Given the description of an element on the screen output the (x, y) to click on. 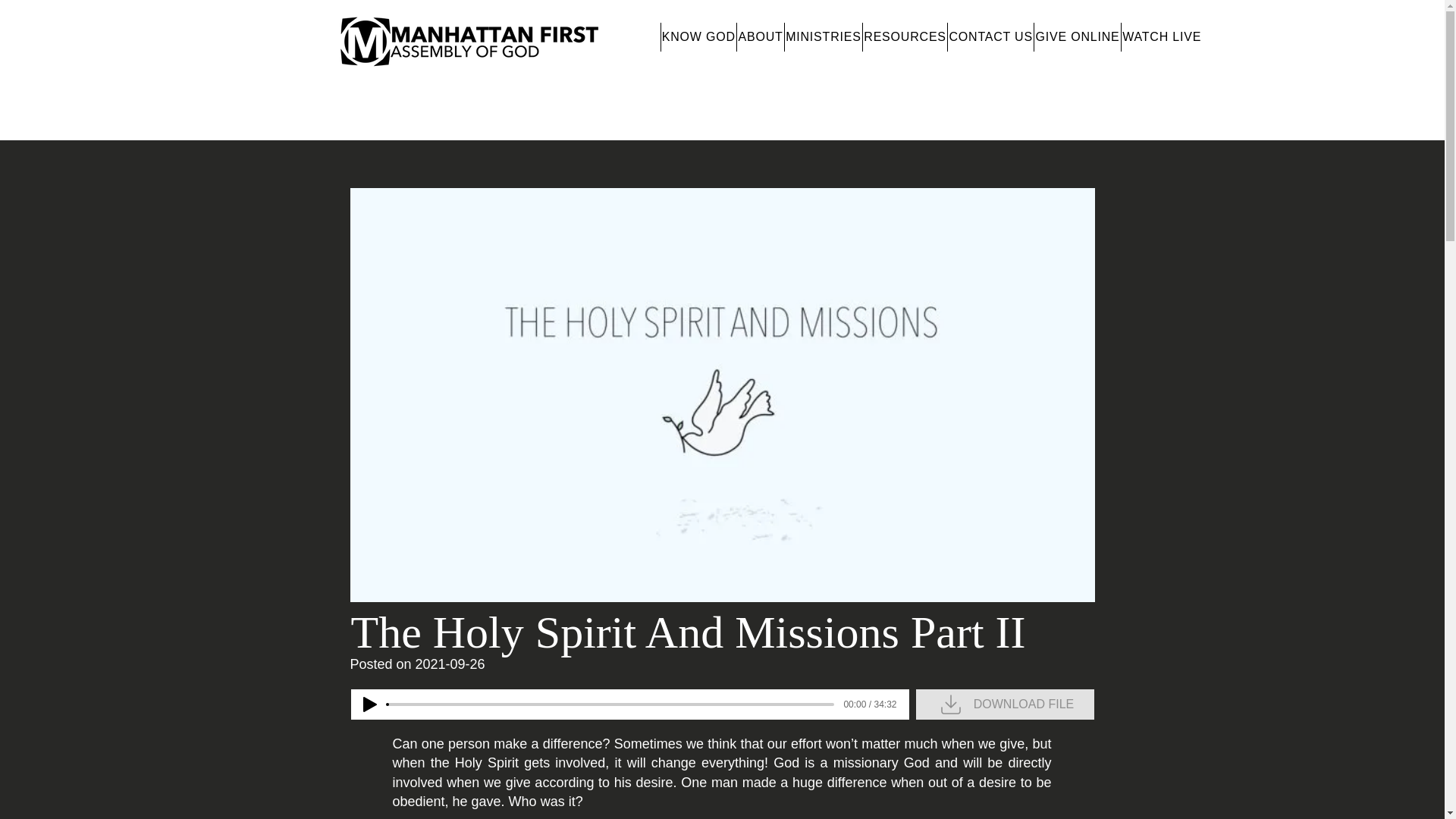
KNOW GOD (697, 36)
GIVE ONLINE (1077, 36)
DOWNLOAD FILE (1004, 704)
0 (610, 703)
CONTACT US (990, 36)
WATCH LIVE (1161, 36)
